Given the description of an element on the screen output the (x, y) to click on. 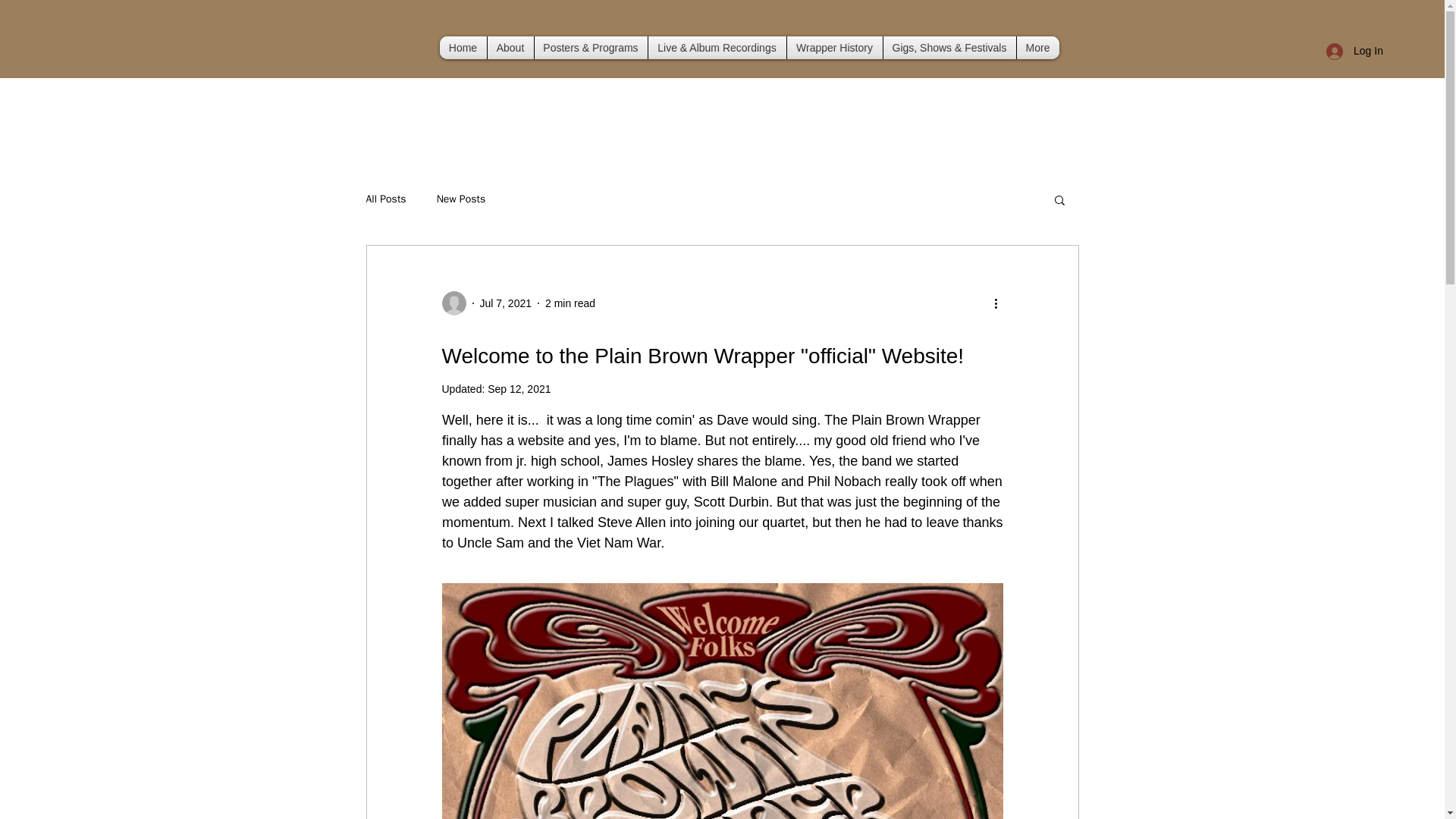
Home (462, 47)
2 min read (569, 303)
Wrapper History (834, 47)
All Posts (385, 199)
Log In (1350, 50)
New Posts (461, 199)
About (509, 47)
Jul 7, 2021 (505, 303)
Sep 12, 2021 (518, 388)
